Given the description of an element on the screen output the (x, y) to click on. 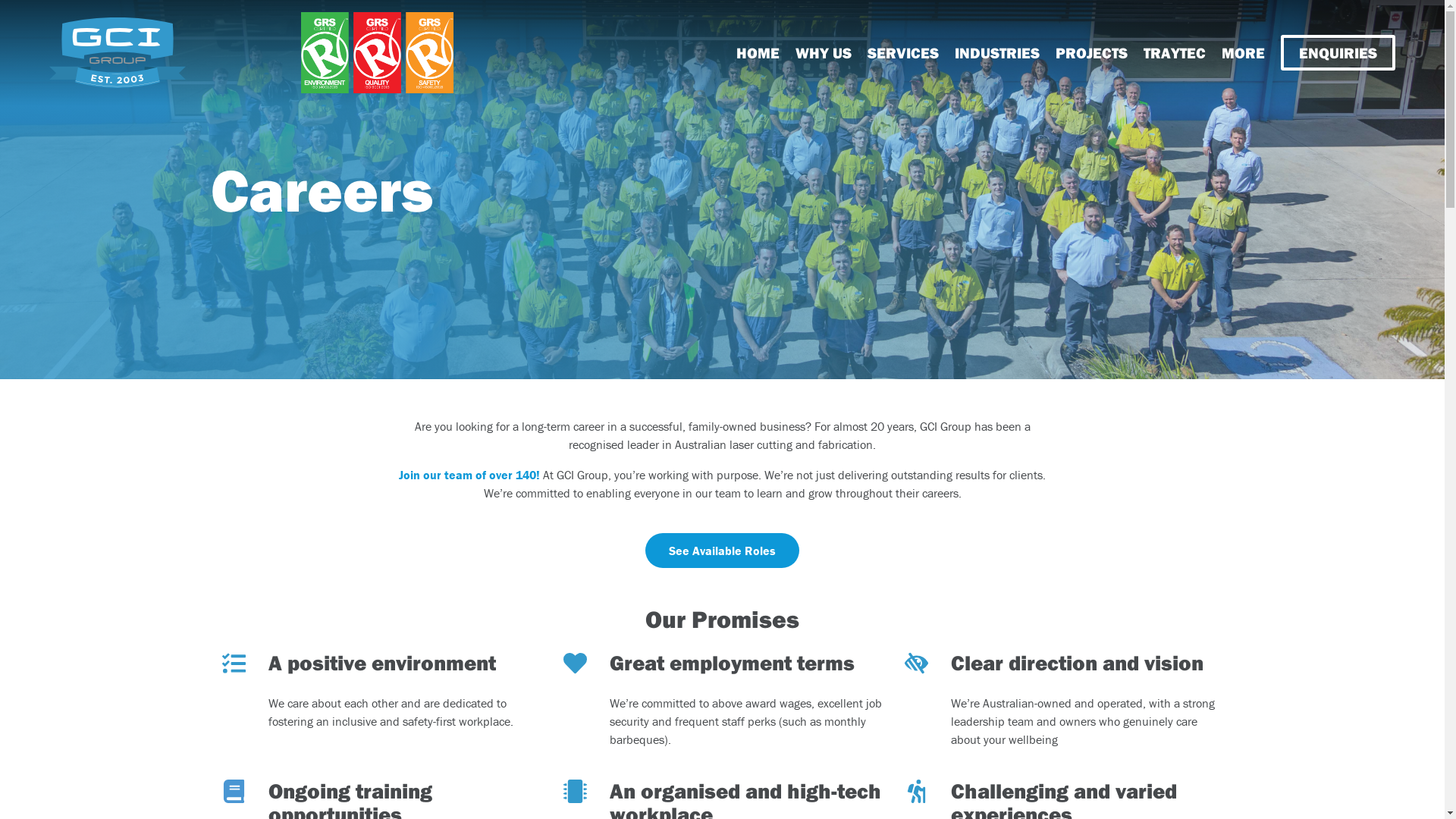
ENQUIRIES Element type: text (1337, 52)
INDUSTRIES Element type: text (996, 52)
TRAYTEC Element type: text (1174, 52)
PROJECTS Element type: text (1091, 52)
WHY US Element type: text (823, 52)
MORE Element type: text (1242, 52)
See Available Roles Element type: text (722, 550)
SERVICES Element type: text (902, 52)
HOME Element type: text (757, 52)
Join our team of over 140! Element type: text (468, 474)
